Given the description of an element on the screen output the (x, y) to click on. 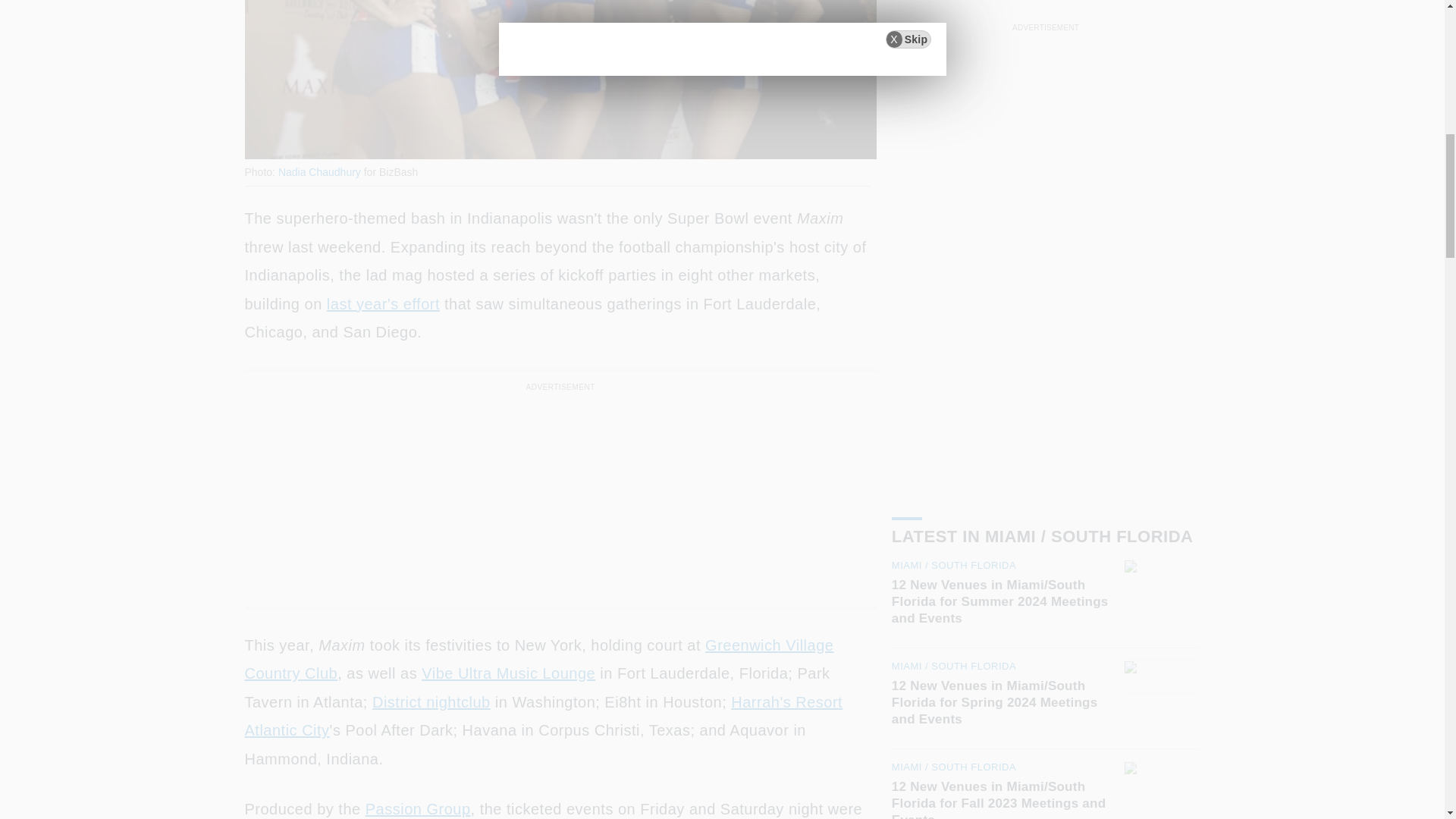
3rd party ad content (560, 488)
